Given the description of an element on the screen output the (x, y) to click on. 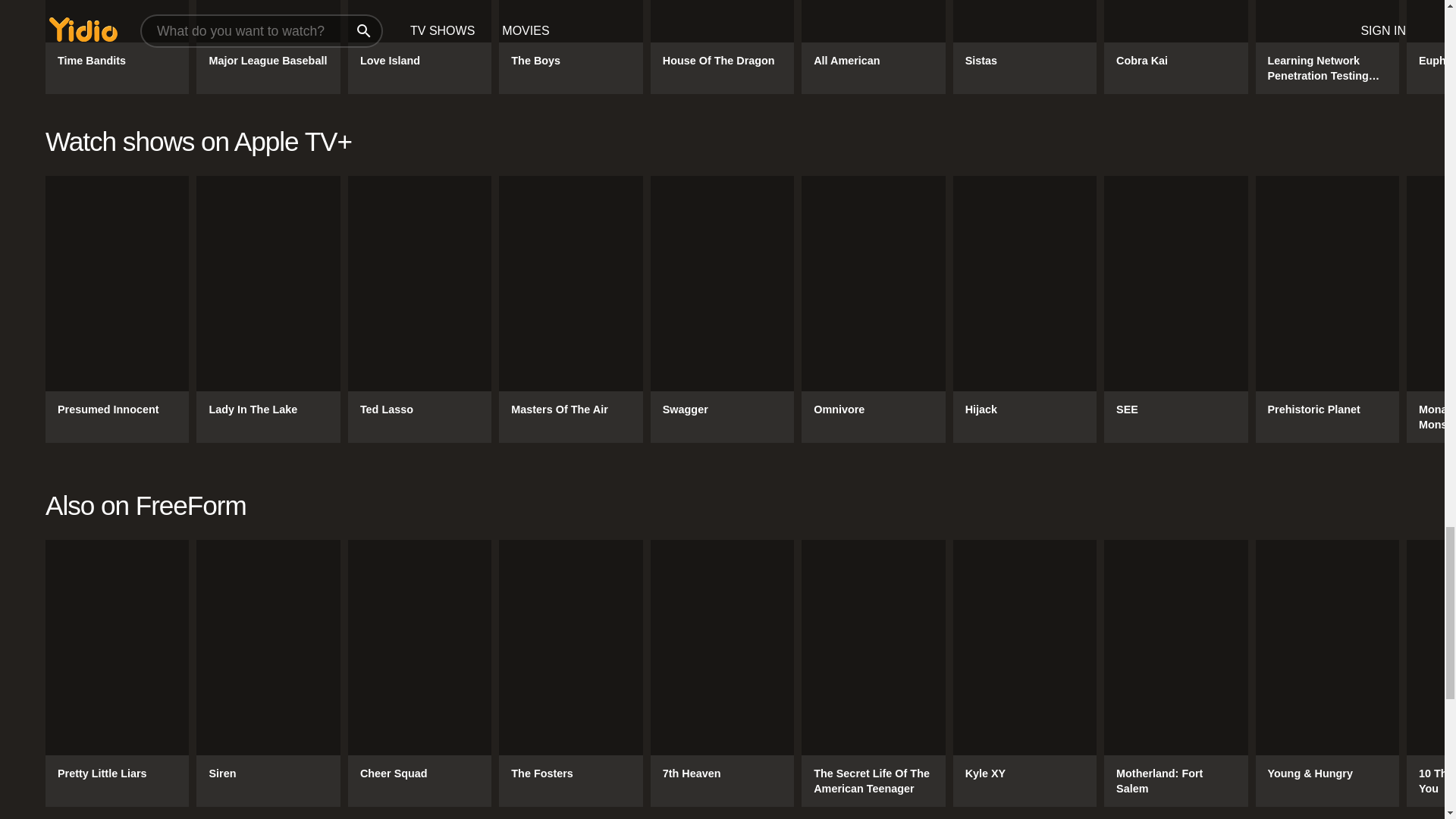
Sistas (1024, 46)
Time Bandits (117, 46)
Major League Baseball (267, 46)
Time Bandits (117, 46)
Learning Network Penetration Testing With Kali Linux (1327, 46)
All American (873, 46)
Major League Baseball (267, 46)
Cobra Kai (1175, 46)
The Boys (570, 46)
House Of The Dragon (721, 46)
Love Island (419, 46)
